Given the description of an element on the screen output the (x, y) to click on. 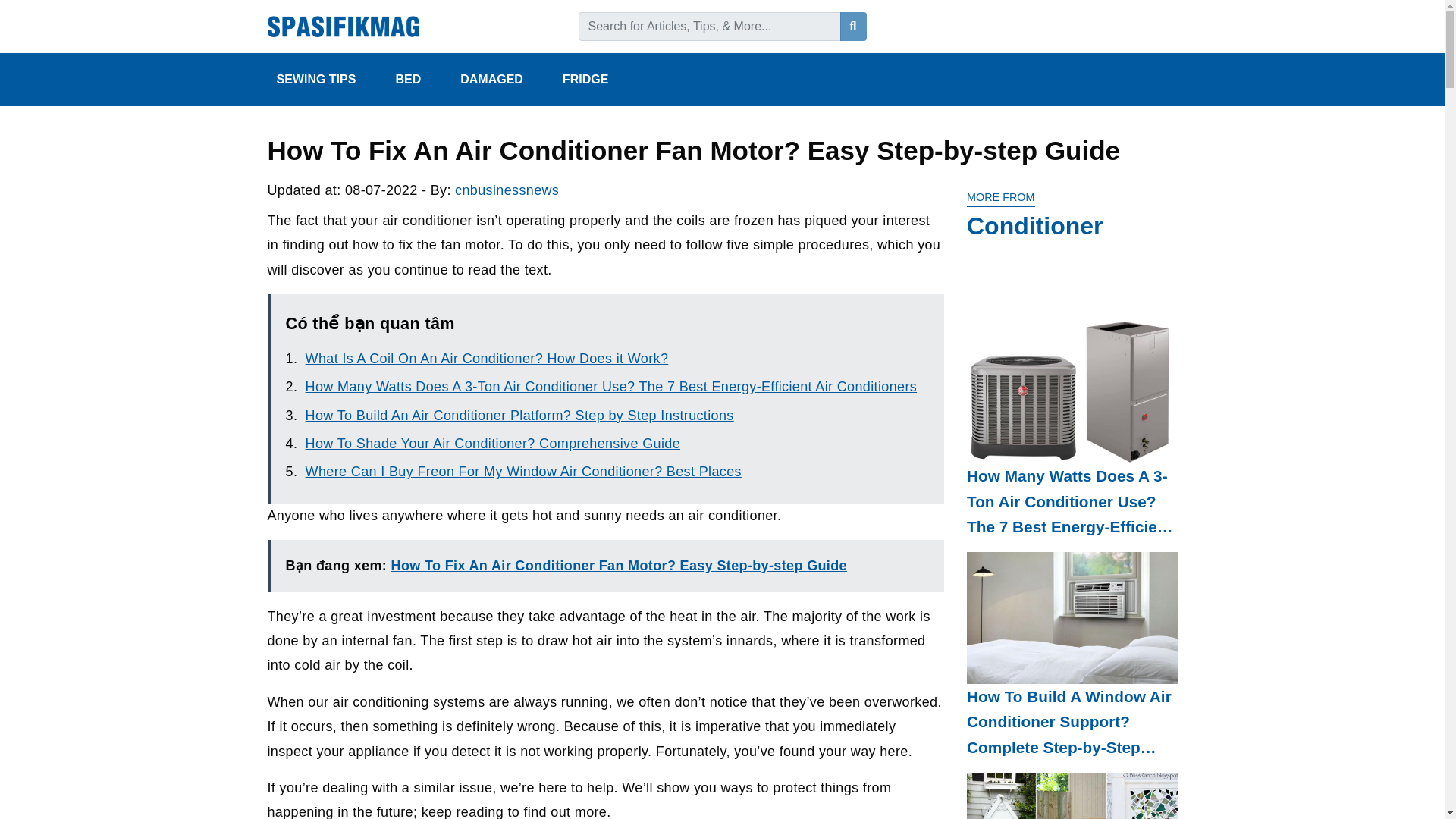
DAMAGED (502, 79)
How To Shade Your Air Conditioner? Comprehensive Guide (492, 443)
FRIDGE (596, 79)
BED (418, 79)
How To Shade Your Air Conditioner? Comprehensive Guide (492, 443)
What Is A Coil On An Air Conditioner? How Does it Work? (486, 358)
SEWING TIPS (325, 79)
cnbusinessnews (506, 189)
